Given the description of an element on the screen output the (x, y) to click on. 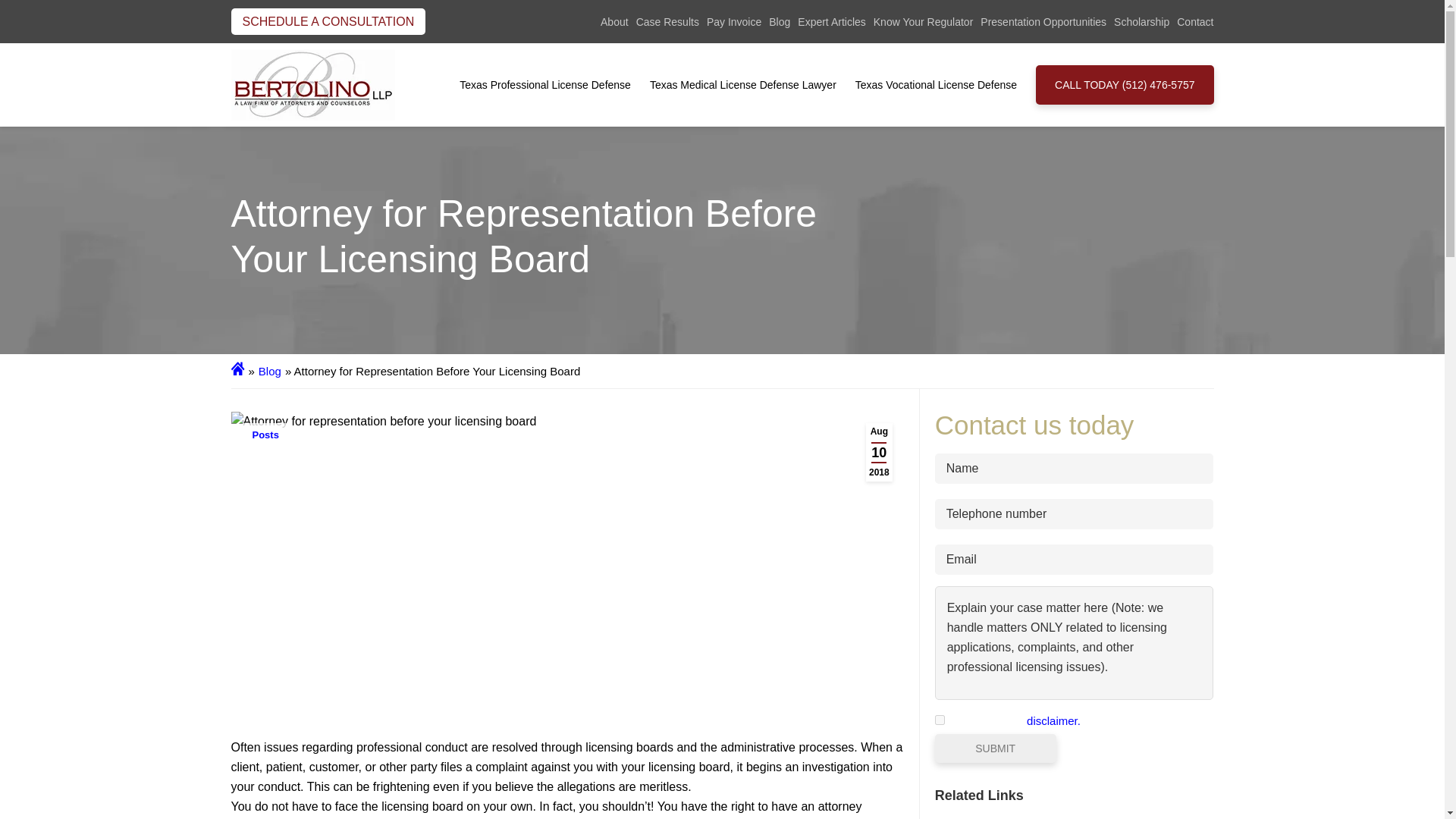
Blog (779, 21)
Scholarship (1141, 21)
Expert Articles (830, 21)
Texas Professional License Defense (545, 84)
I have read the (939, 719)
Pay Invoice (733, 21)
Bertolino LLP Law Firm (312, 84)
Case Results (667, 21)
Presentation Opportunities (1042, 21)
About (613, 21)
